Given the description of an element on the screen output the (x, y) to click on. 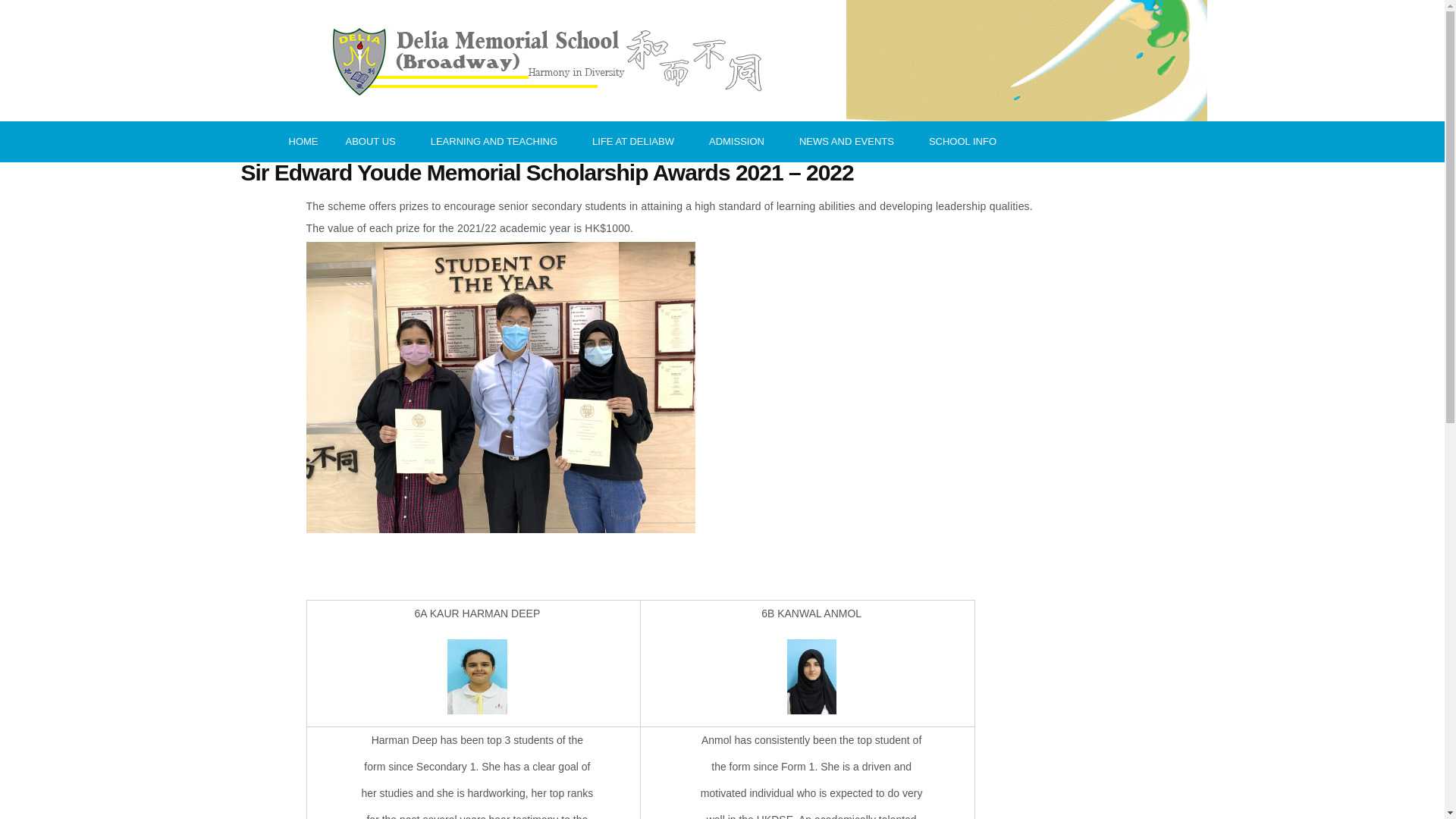
ADMISSION (740, 141)
LEARNING AND TEACHING (497, 141)
LIFE AT DELIABW (636, 141)
NEWS AND EVENTS (850, 141)
HOME (303, 141)
ABOUT US (373, 141)
